Given the description of an element on the screen output the (x, y) to click on. 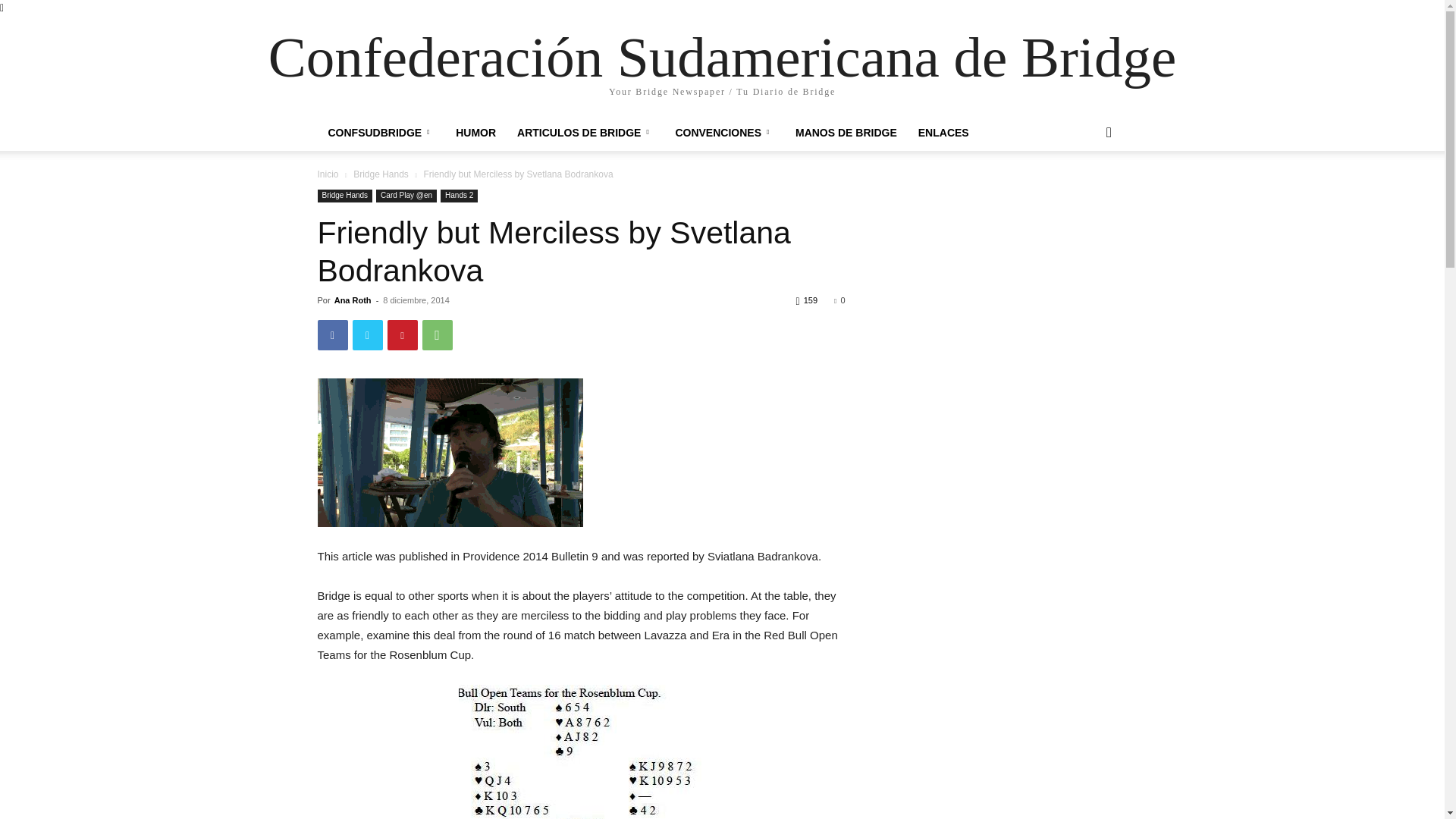
Pinterest (401, 335)
Madala Gif (449, 452)
WhatsApp (436, 335)
Ver todas las publicaciones en Bridge Hands (381, 173)
Twitter (366, 335)
Facebook (332, 335)
